Given the description of an element on the screen output the (x, y) to click on. 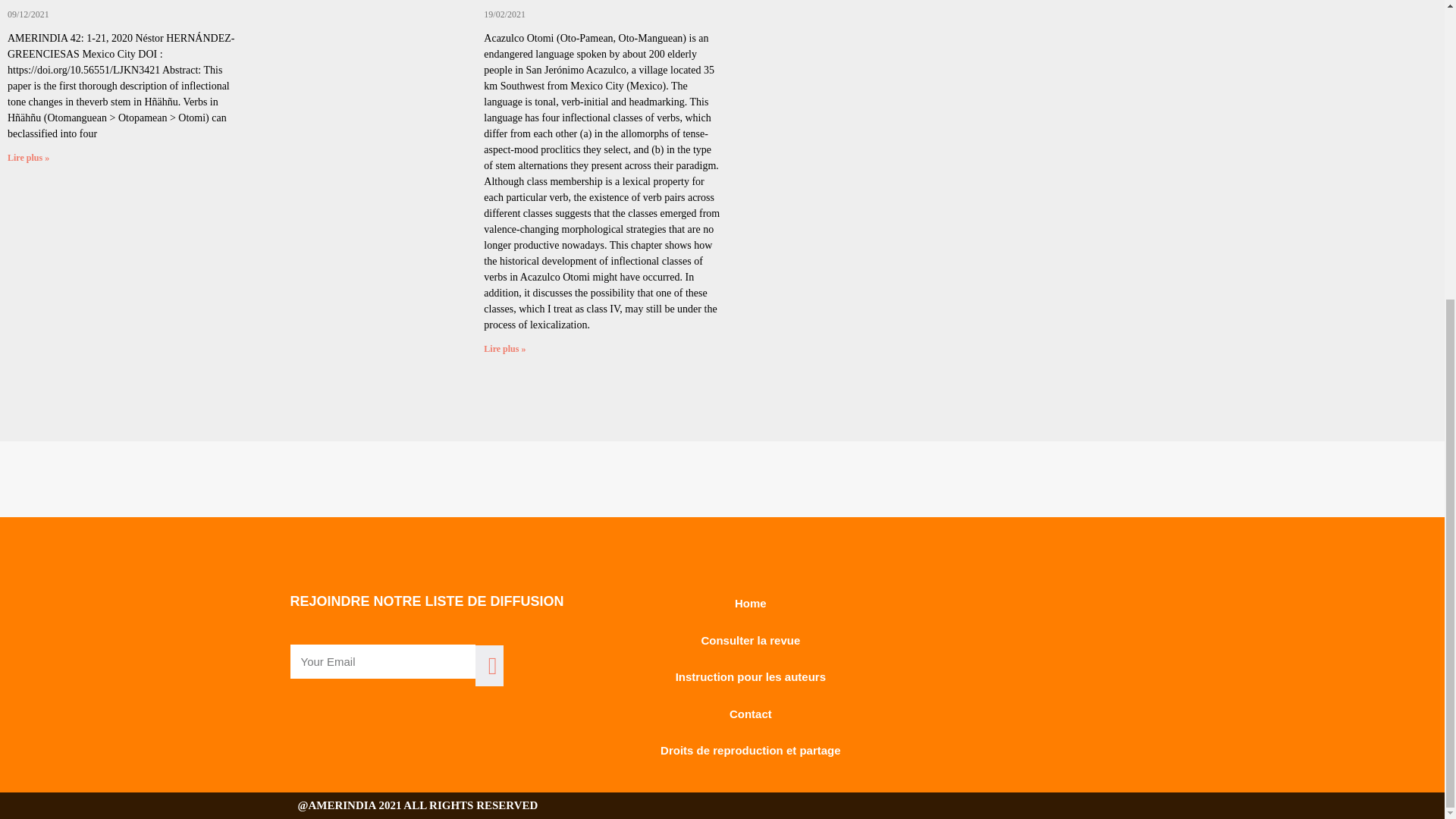
Contact (751, 714)
Instruction pour les auteurs (751, 677)
Consulter la revue (751, 640)
Home (751, 603)
Droits de reproduction et partage (751, 751)
